Given the description of an element on the screen output the (x, y) to click on. 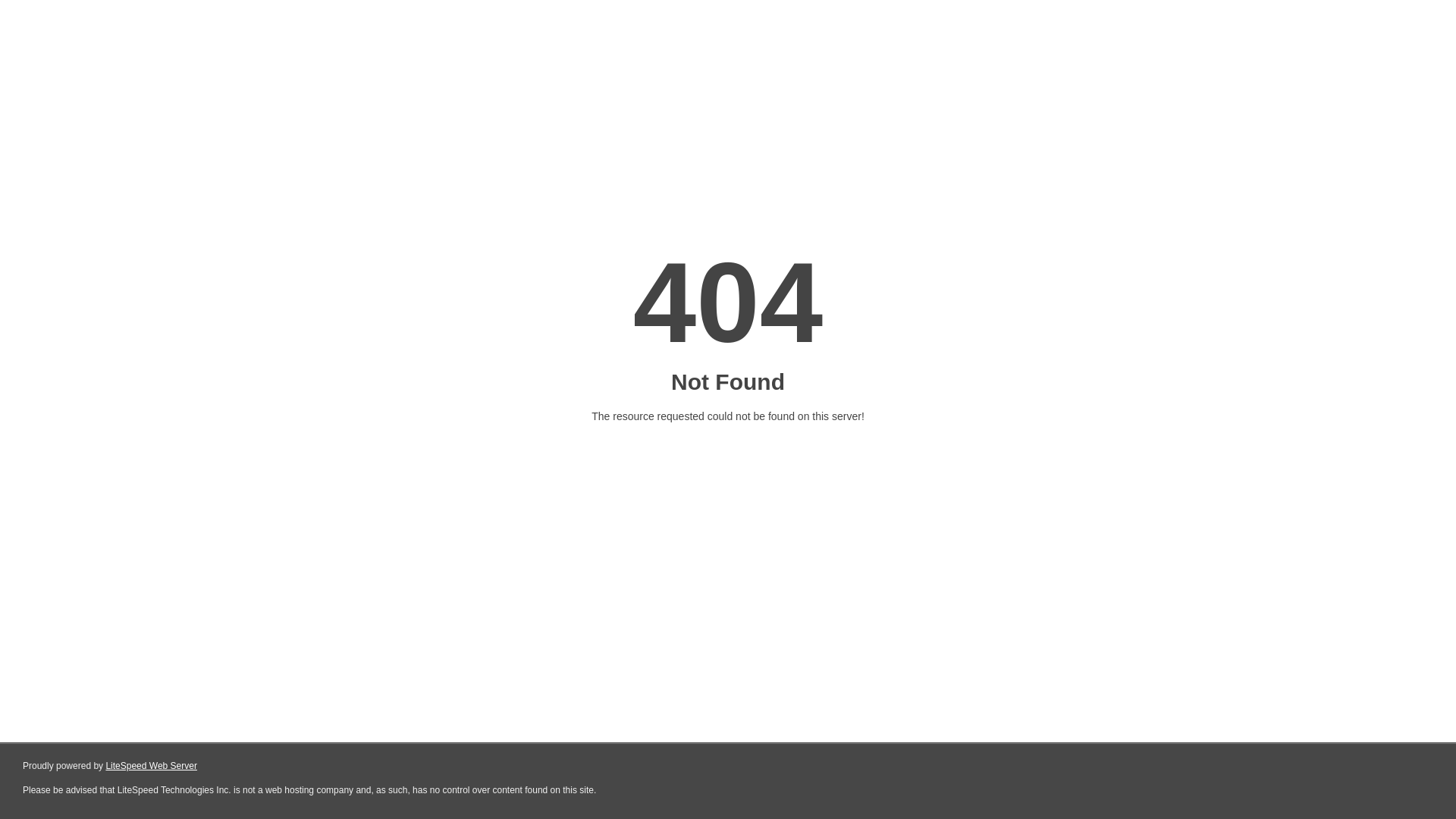
LiteSpeed Web Server Element type: text (151, 765)
